Given the description of an element on the screen output the (x, y) to click on. 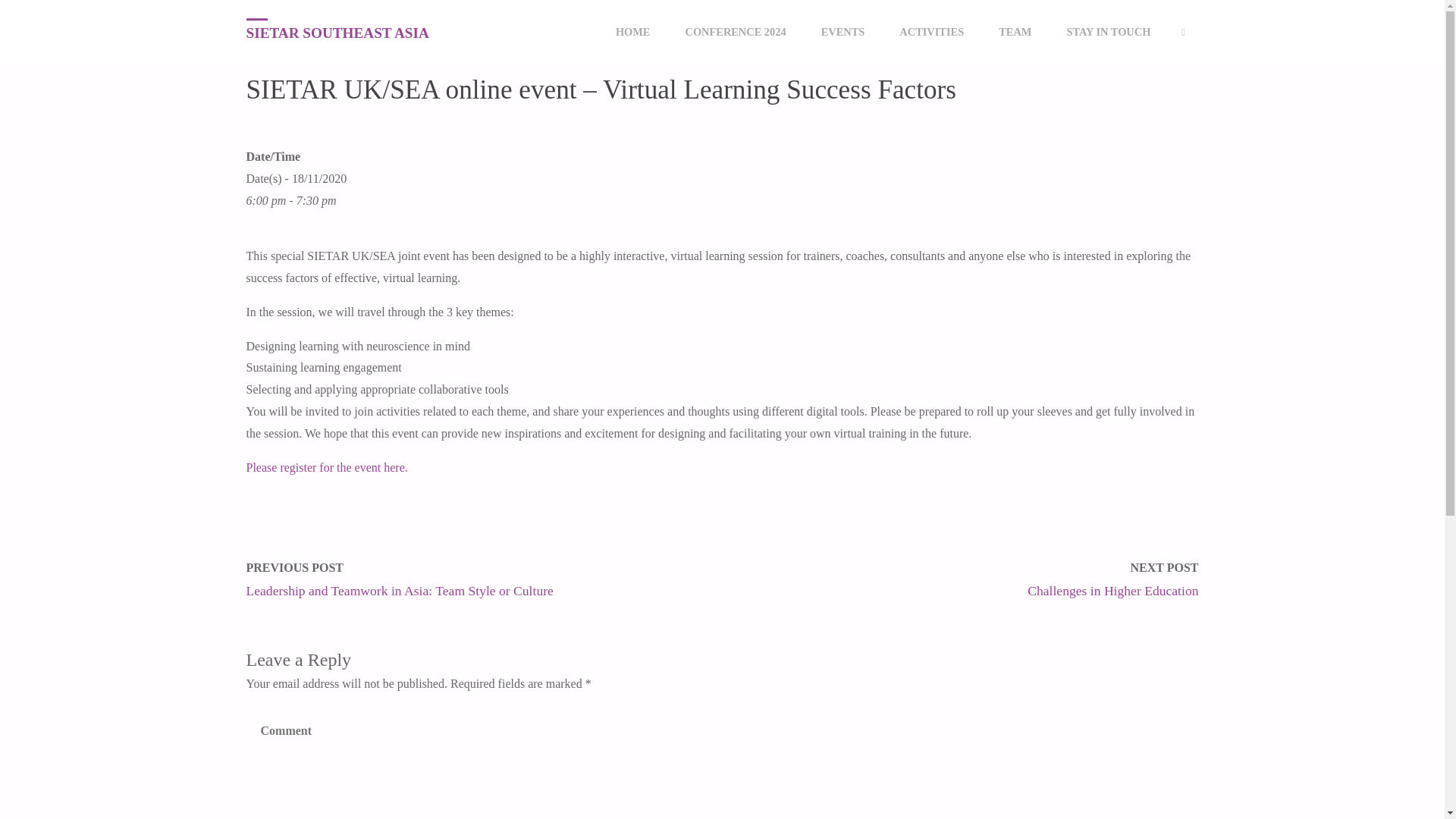
Society for Intercultural Education Training and Research (337, 32)
Please register for the event here. (326, 467)
STAY IN TOUCH (1107, 32)
CONFERENCE 2024 (734, 32)
HOME (252, 16)
ACTIVITIES (931, 32)
SIETAR SOUTHEAST ASIA (337, 32)
Challenges in Higher Education (1112, 590)
EVENTS (842, 32)
EVENT (296, 16)
